Given the description of an element on the screen output the (x, y) to click on. 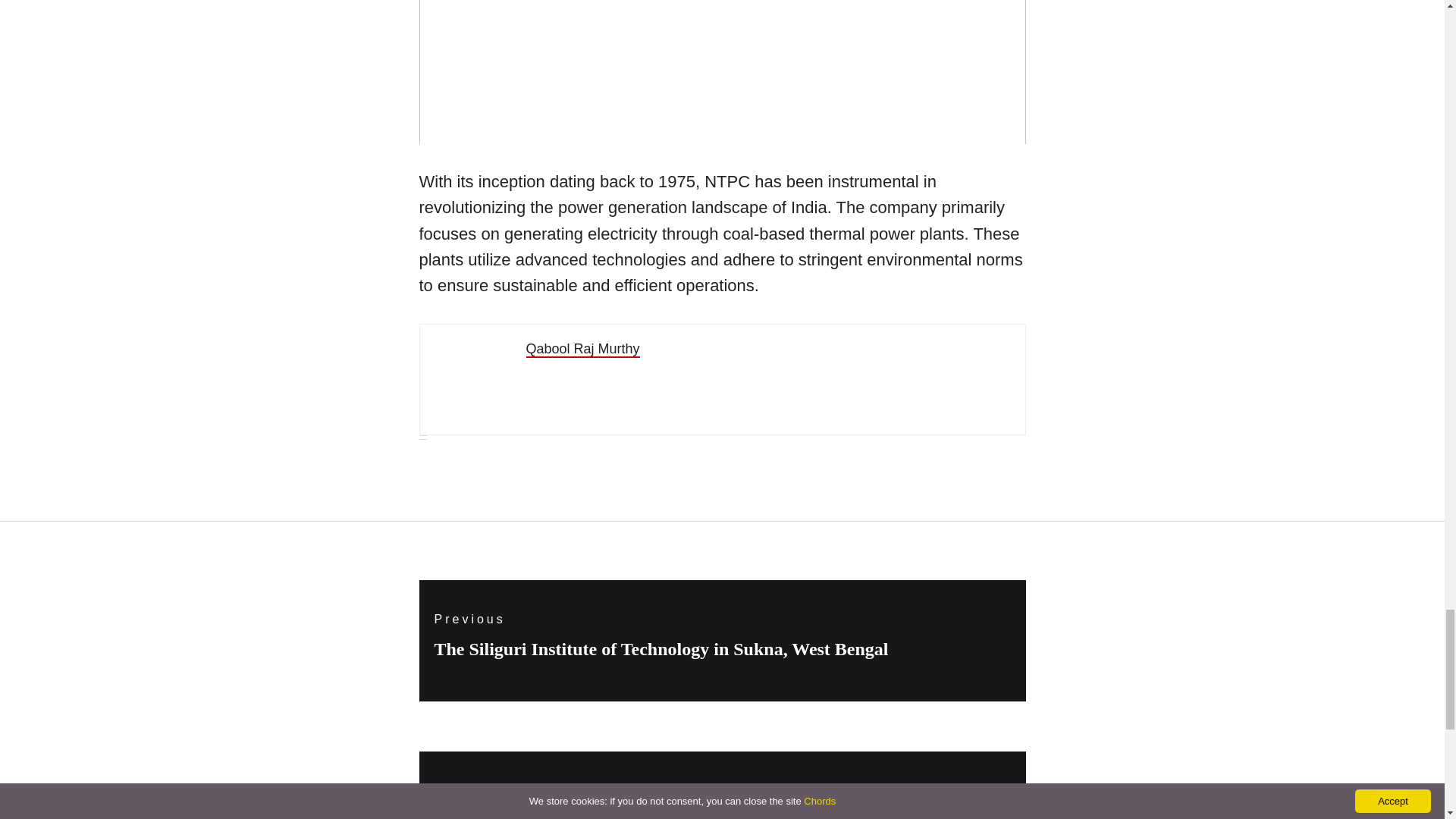
Qabool Raj Murthy (582, 349)
